Given the description of an element on the screen output the (x, y) to click on. 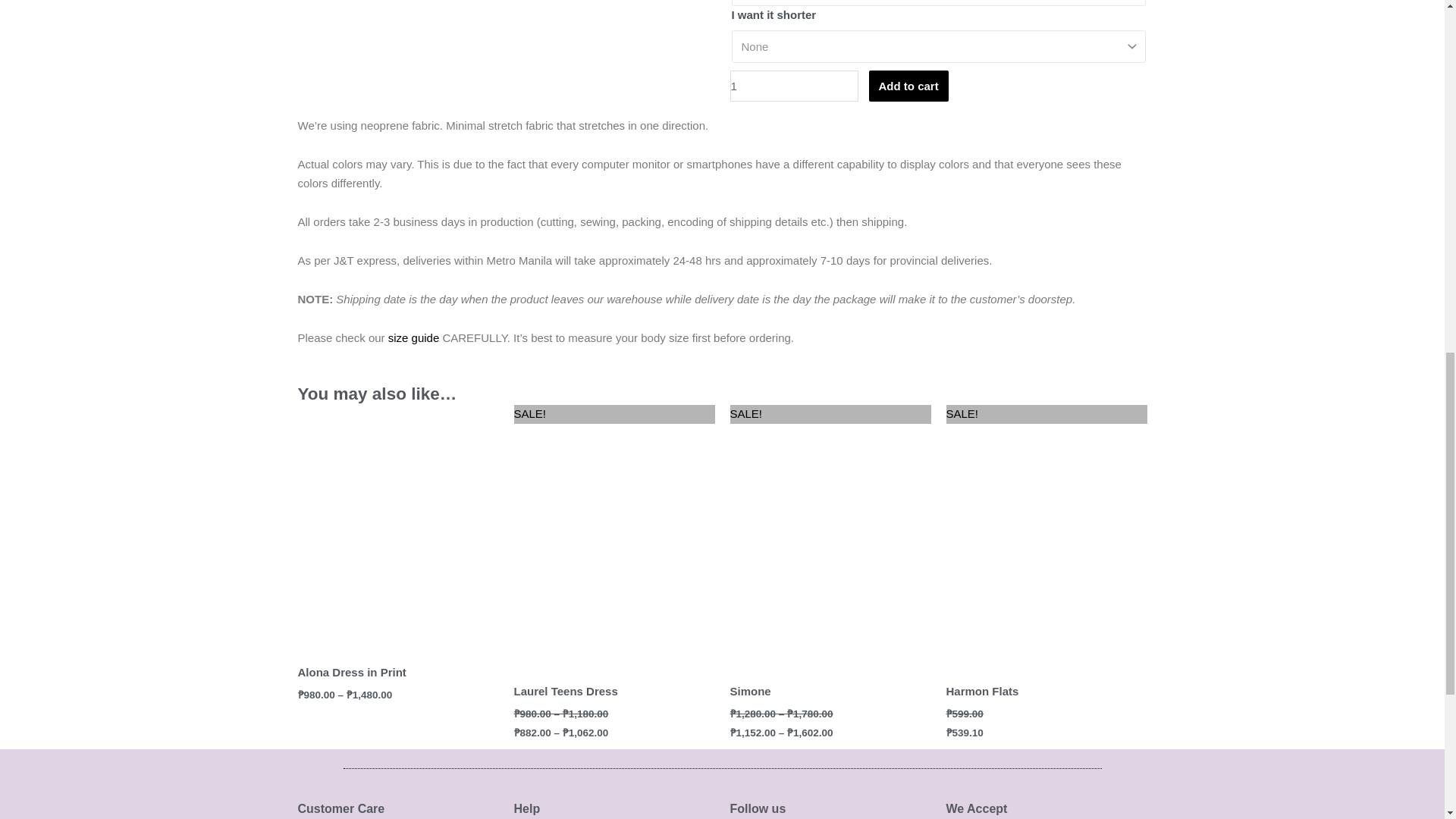
1 (793, 85)
